Given the description of an element on the screen output the (x, y) to click on. 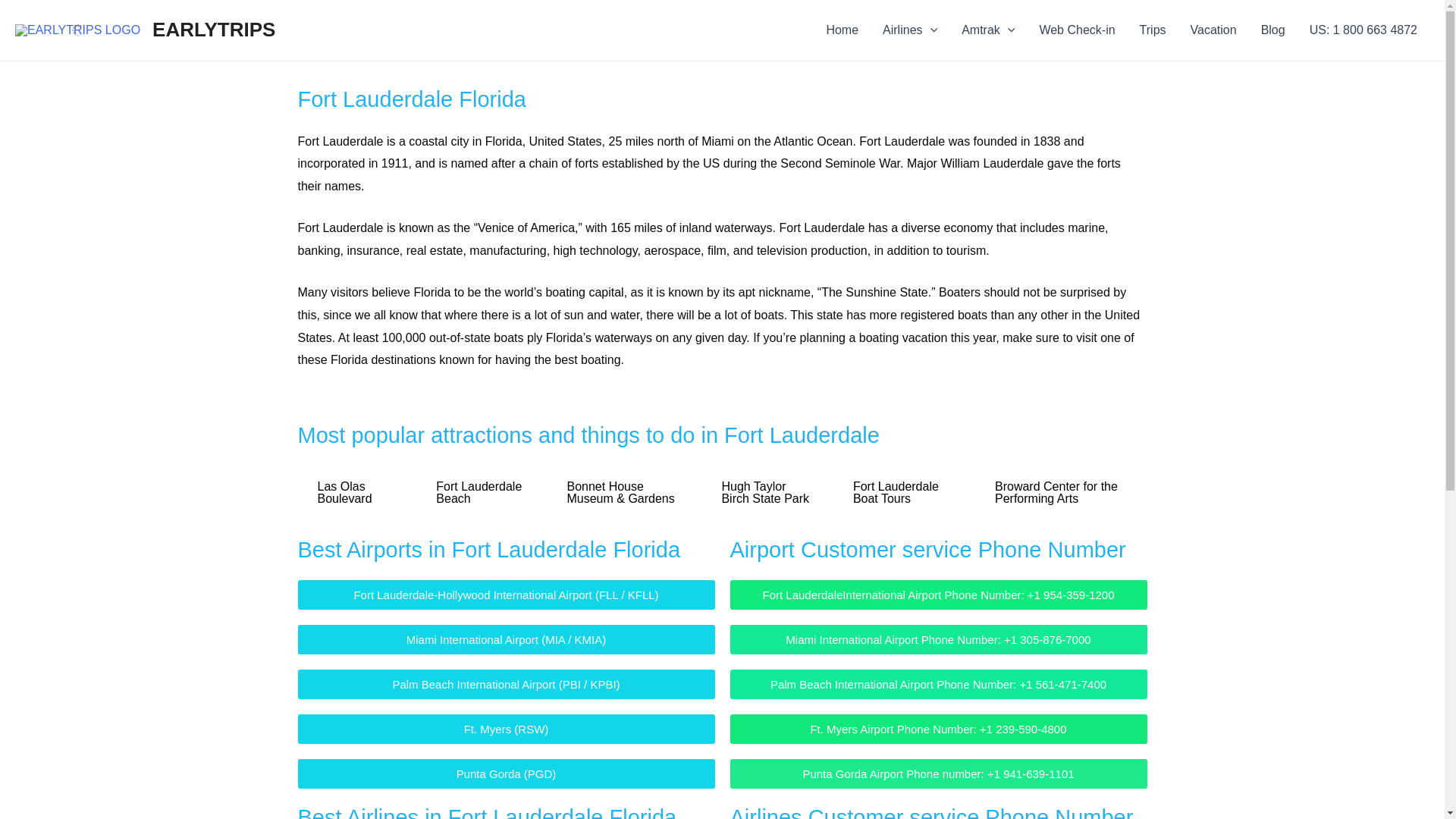
EARLYTRIPS (213, 29)
Web Check-in (1076, 30)
Vacation (1213, 30)
Airlines (909, 30)
Amtrak (987, 30)
Home (841, 30)
US: 1 800 663 4872 (1363, 30)
